Given the description of an element on the screen output the (x, y) to click on. 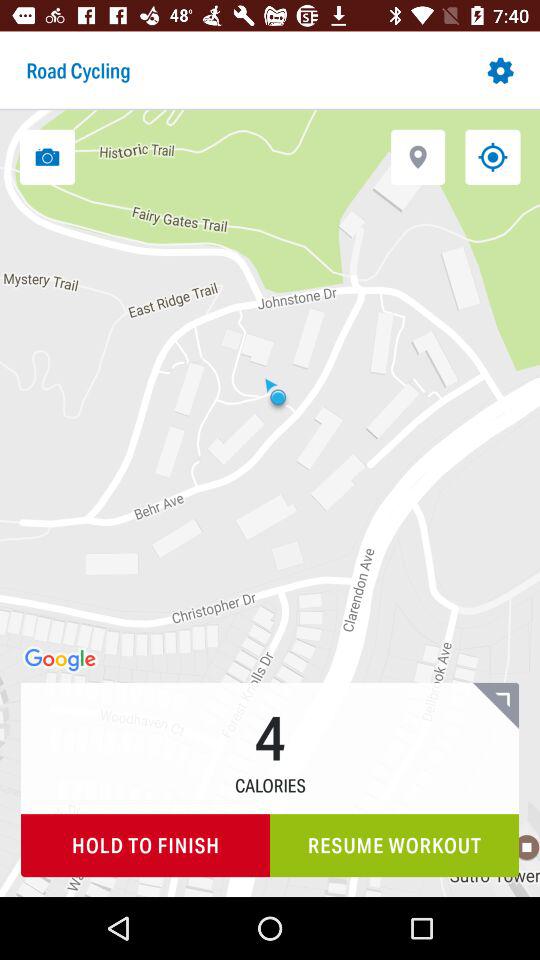
open icon above the 4 (418, 156)
